Given the description of an element on the screen output the (x, y) to click on. 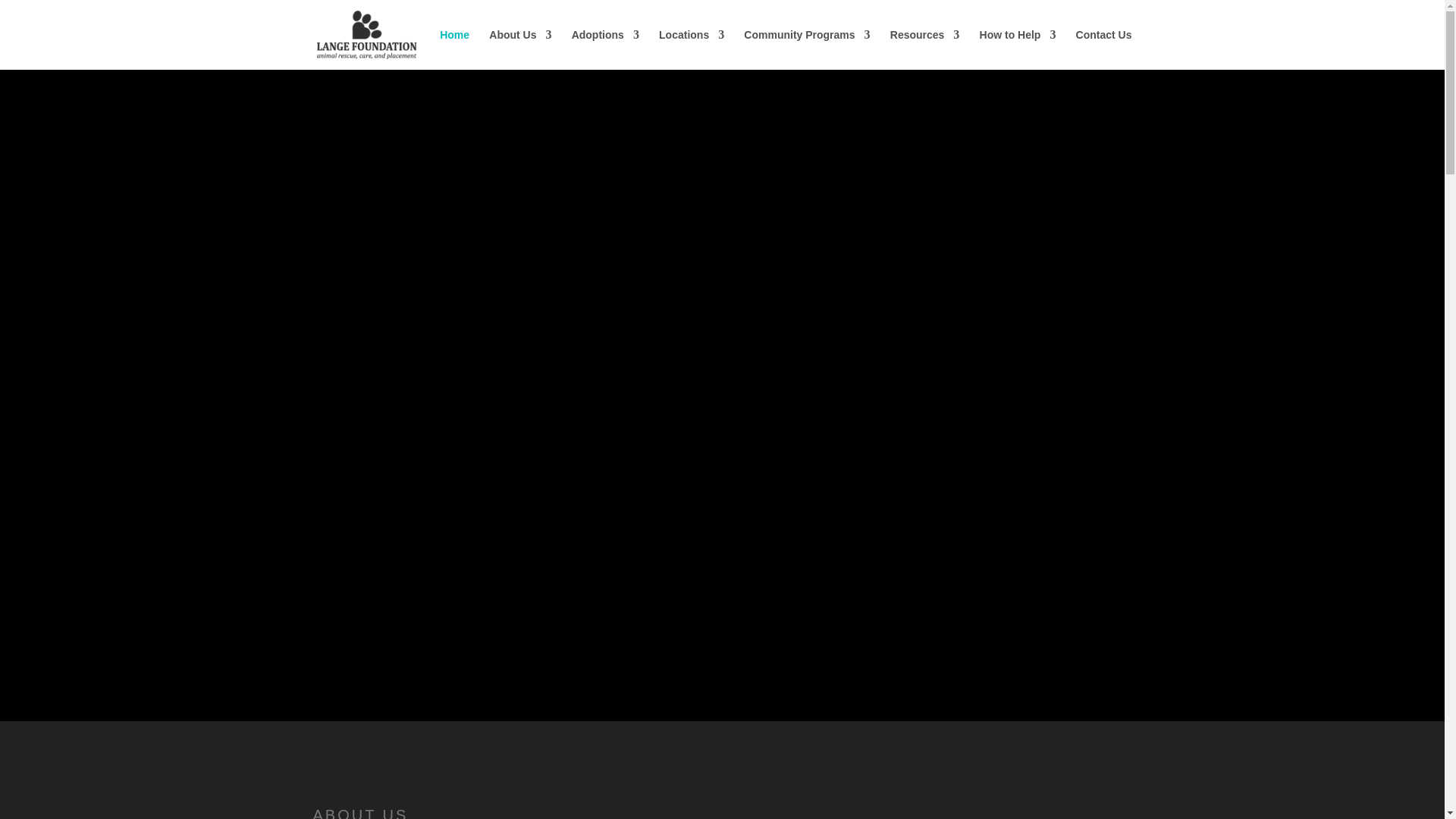
Locations (691, 49)
Adoptions (605, 49)
About Us (520, 49)
Community Programs (806, 49)
Resources (924, 49)
Contact Us (1103, 49)
How to Help (1018, 49)
